Given the description of an element on the screen output the (x, y) to click on. 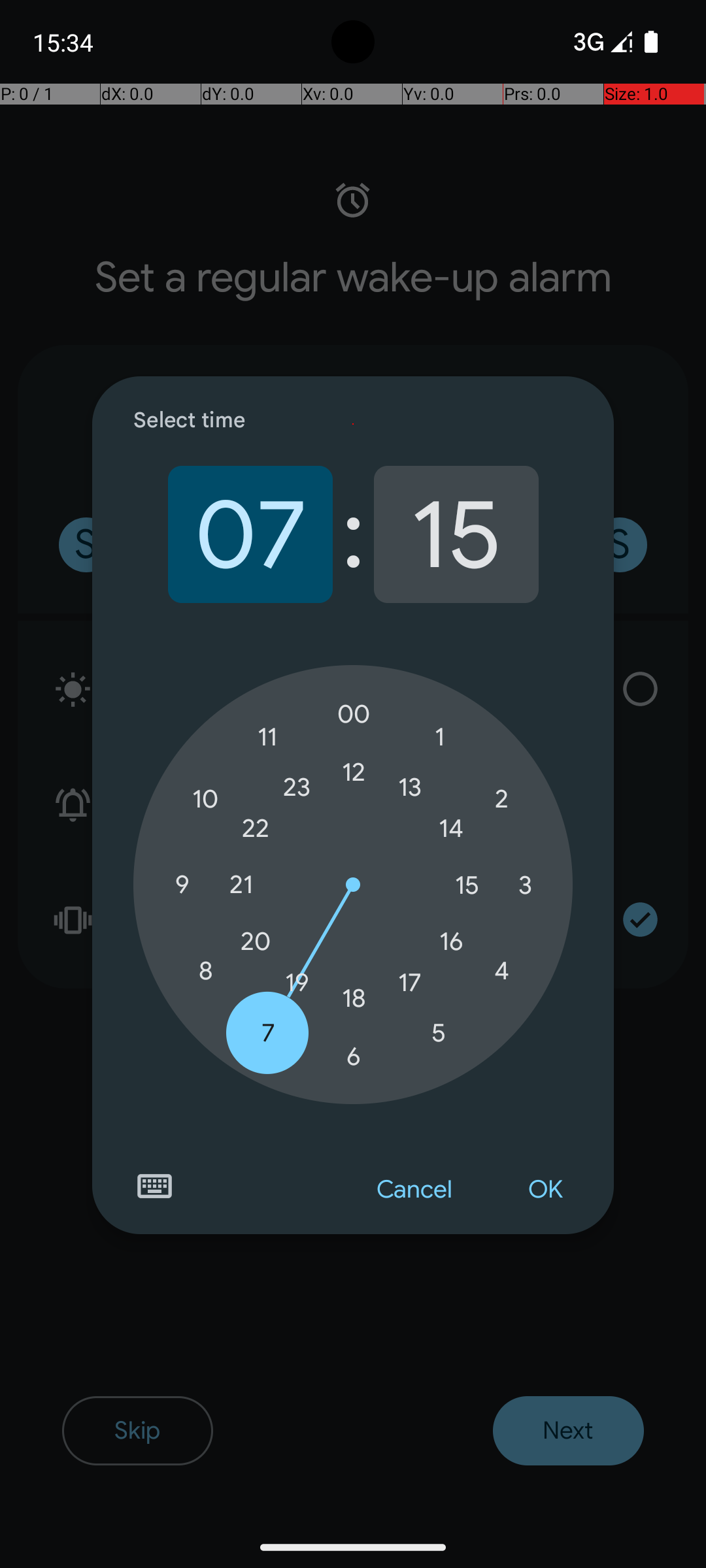
07 Element type: android.view.View (250, 534)
15 Element type: android.view.View (455, 534)
Switch to text input mode for the time input. Element type: android.widget.Button (154, 1186)
Cancel Element type: android.widget.Button (414, 1189)
11 Element type: android.widget.TextView (267, 736)
10 Element type: android.widget.TextView (205, 798)
23 Element type: android.widget.TextView (296, 787)
12 Element type: android.widget.TextView (353, 772)
13 Element type: android.widget.TextView (409, 787)
21 Element type: android.widget.TextView (240, 884)
22 Element type: android.widget.TextView (255, 828)
14 Element type: android.widget.TextView (450, 828)
20 Element type: android.widget.TextView (255, 941)
16 Element type: android.widget.TextView (450, 941)
19 Element type: android.widget.TextView (296, 982)
18 Element type: android.widget.TextView (353, 998)
17 Element type: android.widget.TextView (409, 982)
